Given the description of an element on the screen output the (x, y) to click on. 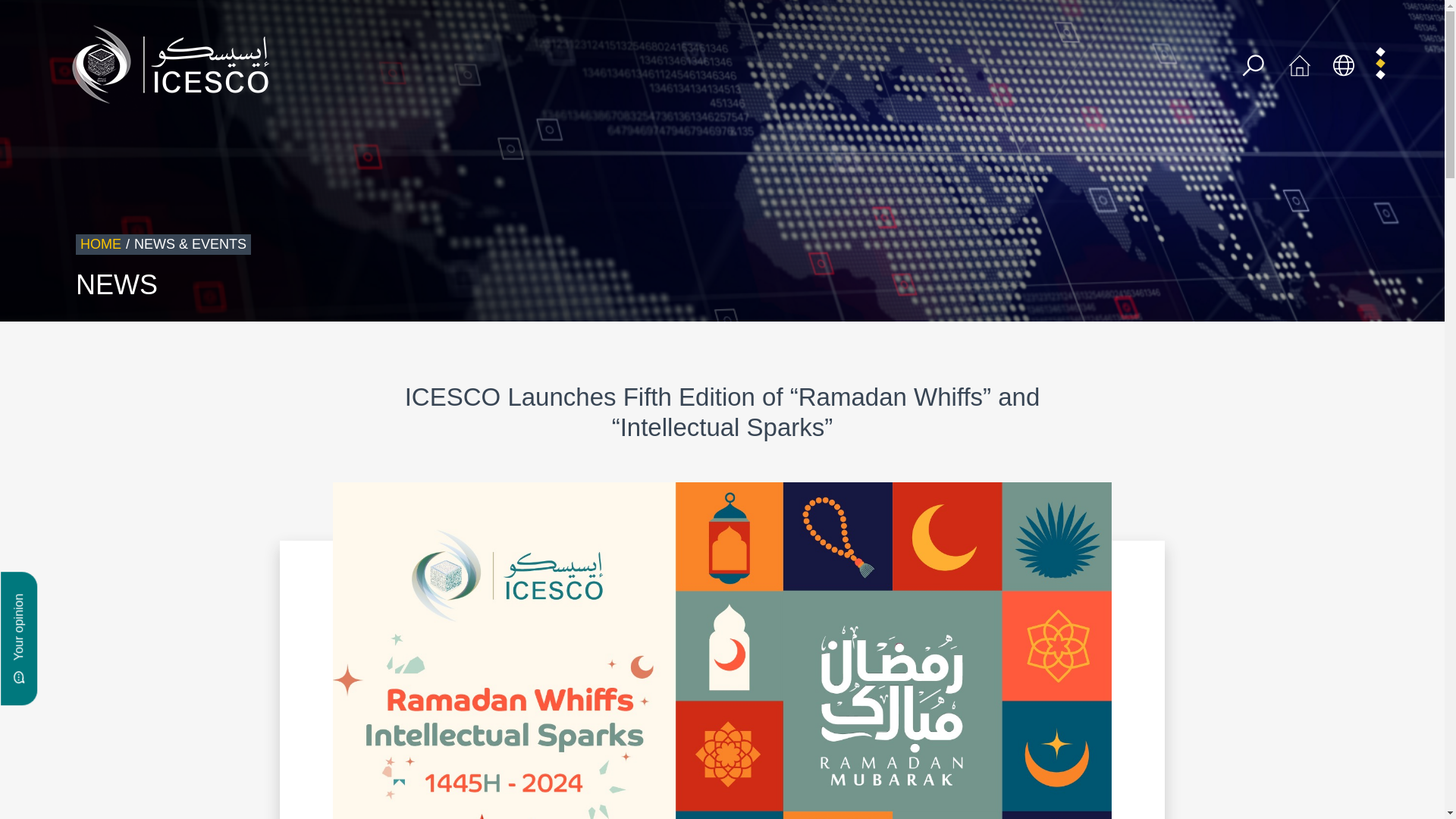
Go to Home. (100, 243)
